Given the description of an element on the screen output the (x, y) to click on. 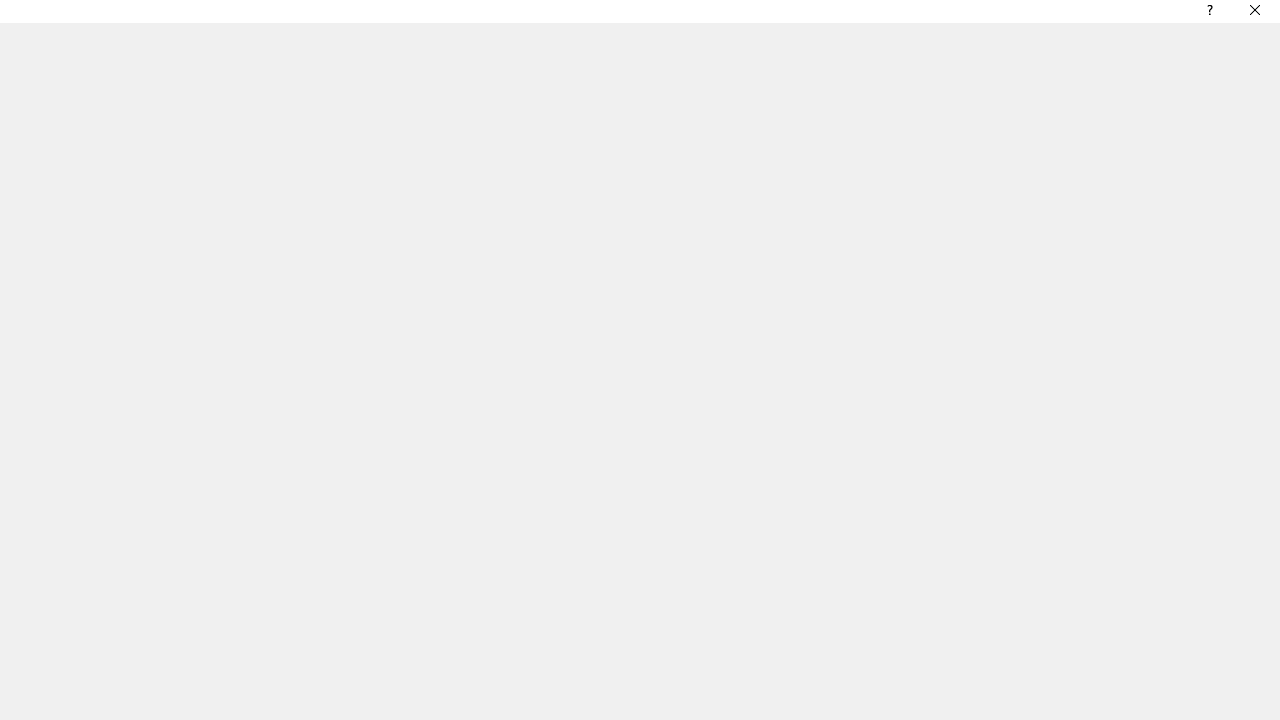
Context help (1208, 14)
